Given the description of an element on the screen output the (x, y) to click on. 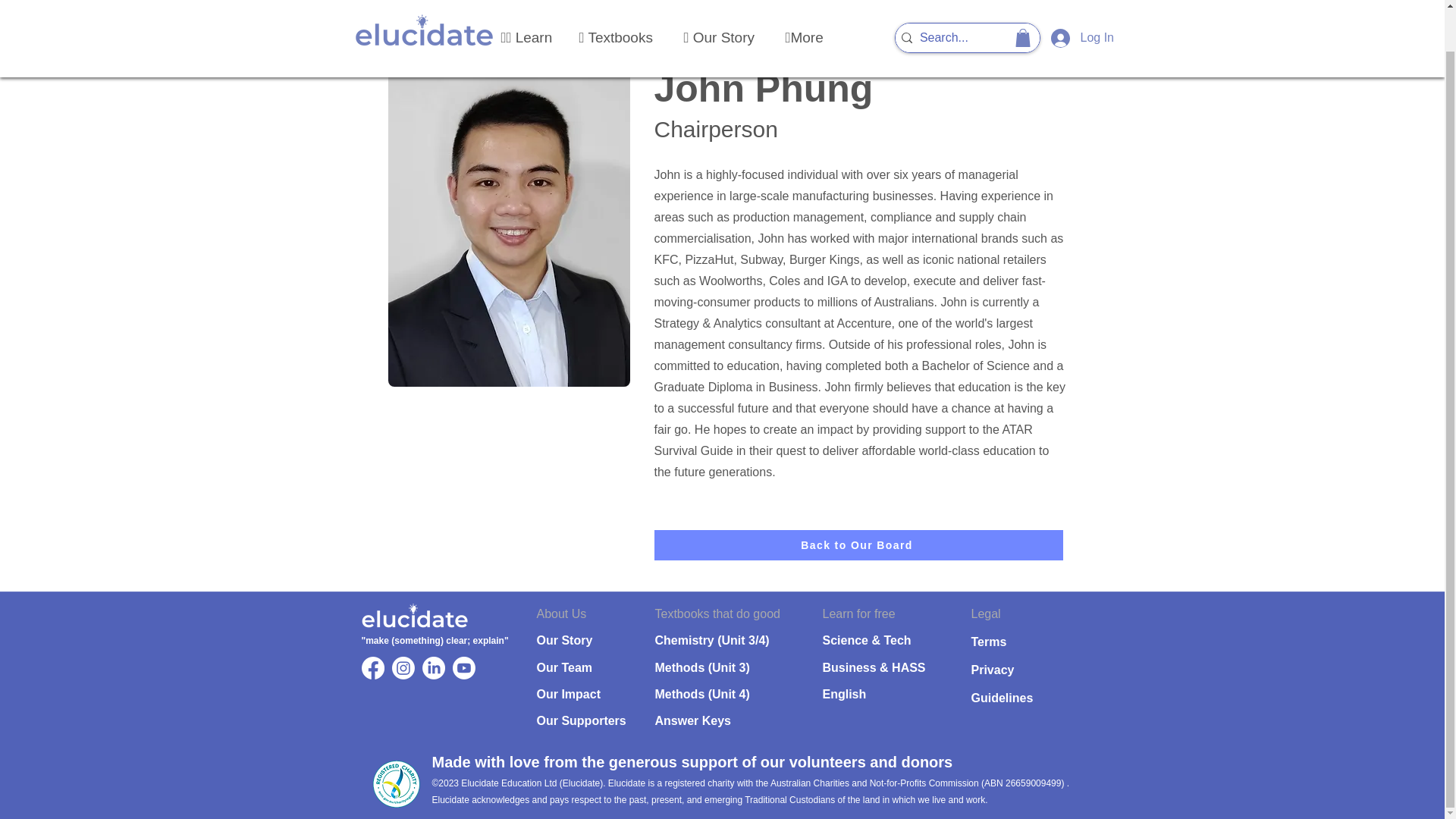
Privacy (992, 669)
Our Team (564, 667)
Terms (988, 641)
Our Impact (568, 694)
Our Story (564, 640)
Our Supporters (581, 720)
Answer Keys (693, 720)
Guidelines (1001, 697)
English (844, 694)
Back to Our Board (857, 544)
